Given the description of an element on the screen output the (x, y) to click on. 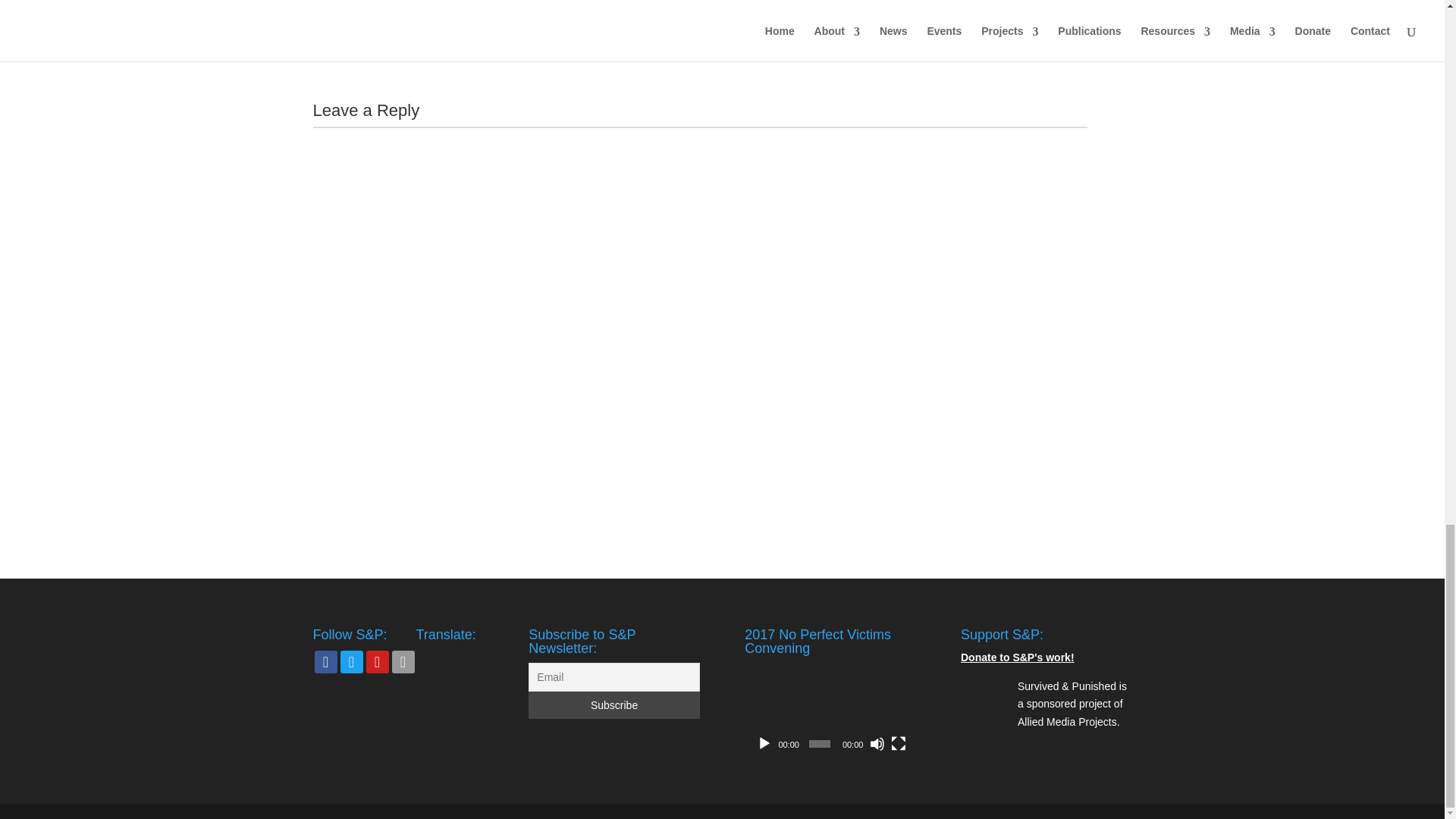
Facebook (325, 661)
YouTube (376, 661)
Email (402, 661)
Subscribe (613, 705)
Play (764, 743)
Like or Reblog (699, 16)
Mute (877, 743)
Twitter (350, 661)
